Given the description of an element on the screen output the (x, y) to click on. 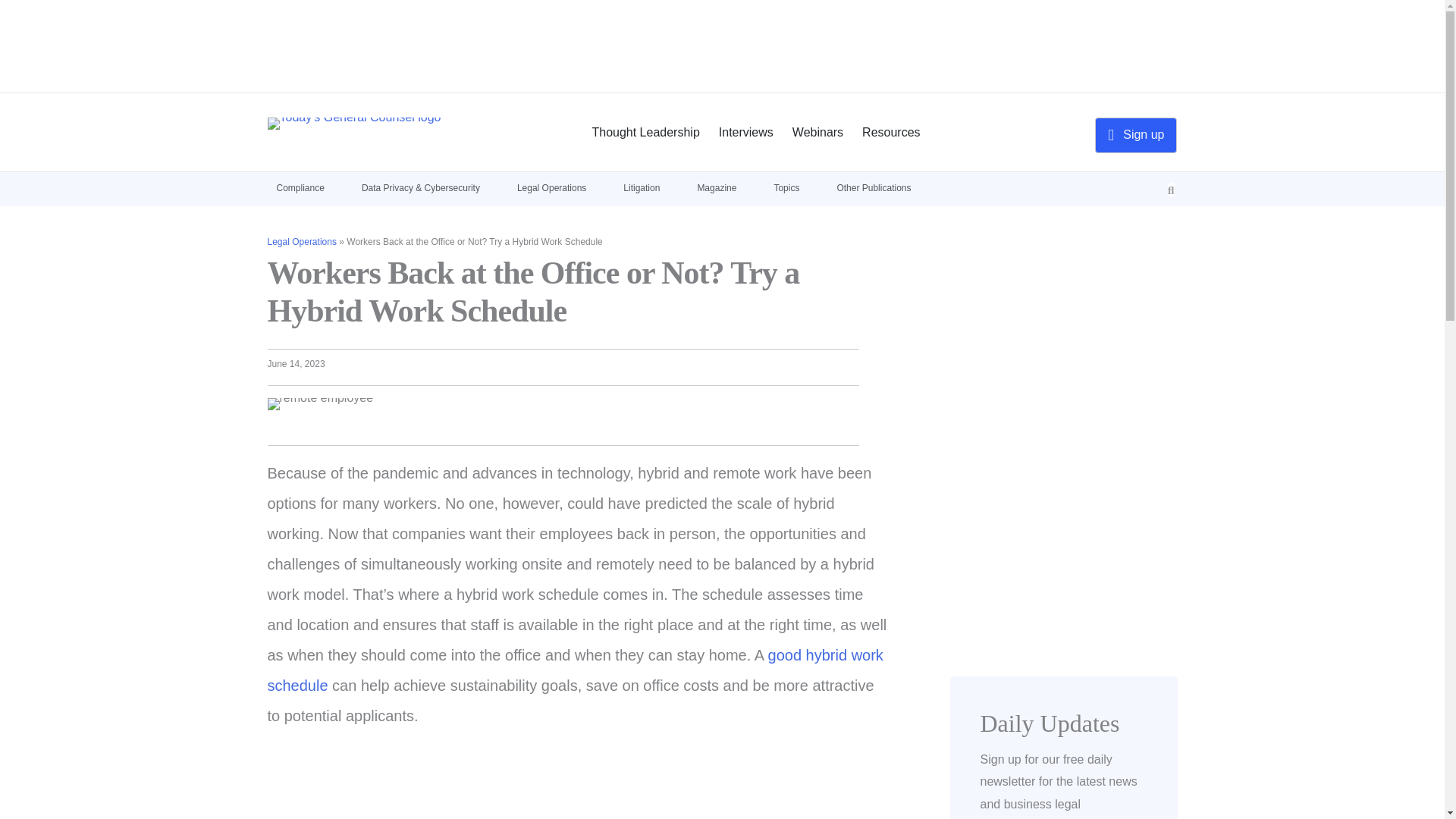
Litigation (650, 186)
Compliance (308, 186)
Legal Operations (301, 241)
Magazine (724, 186)
Thought Leadership (644, 132)
iStock-1218524083 (319, 404)
good hybrid work schedule (574, 670)
Other Publications (882, 186)
Interviews (746, 132)
Legal Operations (560, 186)
